Given the description of an element on the screen output the (x, y) to click on. 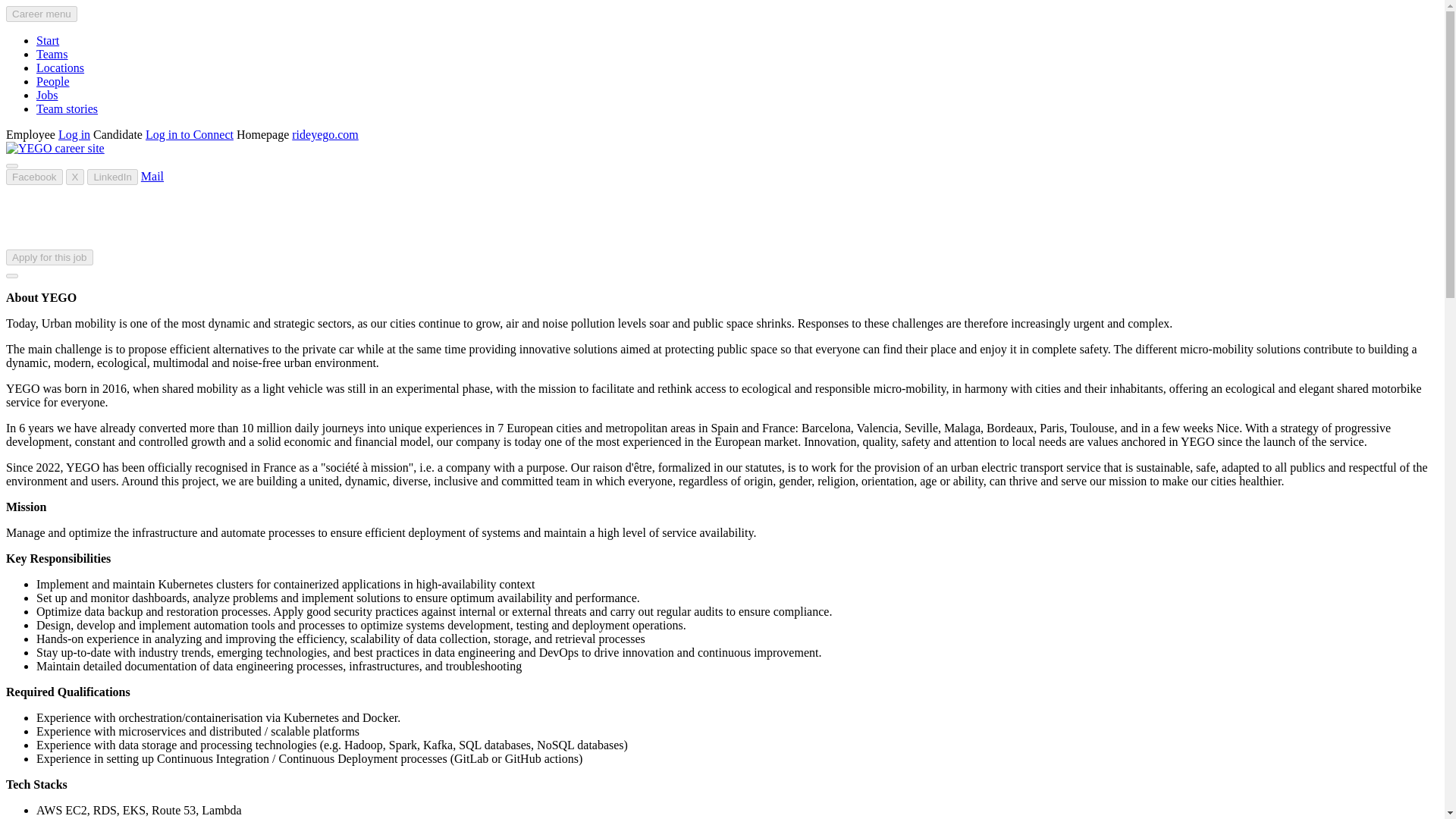
Jobs (47, 94)
LinkedIn (111, 176)
Scroll to content (11, 275)
Teams (52, 53)
Start (47, 40)
Career menu (41, 13)
Log in (74, 133)
Locations (60, 67)
Apply for this job (49, 257)
Career menu (41, 13)
